Given the description of an element on the screen output the (x, y) to click on. 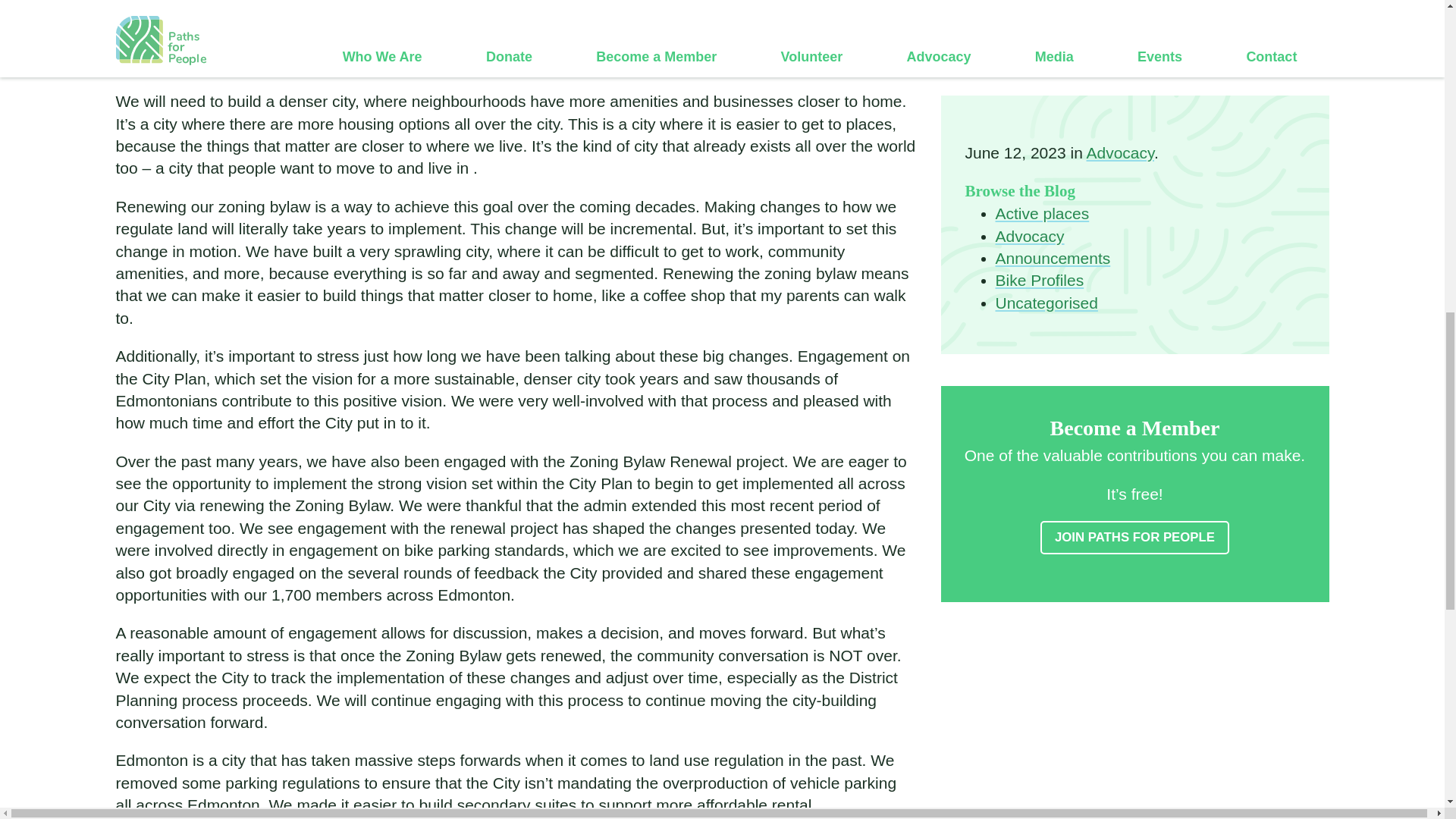
Announcements (1051, 55)
Uncategorised (1045, 99)
Advocacy (1029, 33)
Bike Profiles (1038, 77)
JOIN PATHS FOR PEOPLE (1134, 335)
Active places (1041, 10)
